Given the description of an element on the screen output the (x, y) to click on. 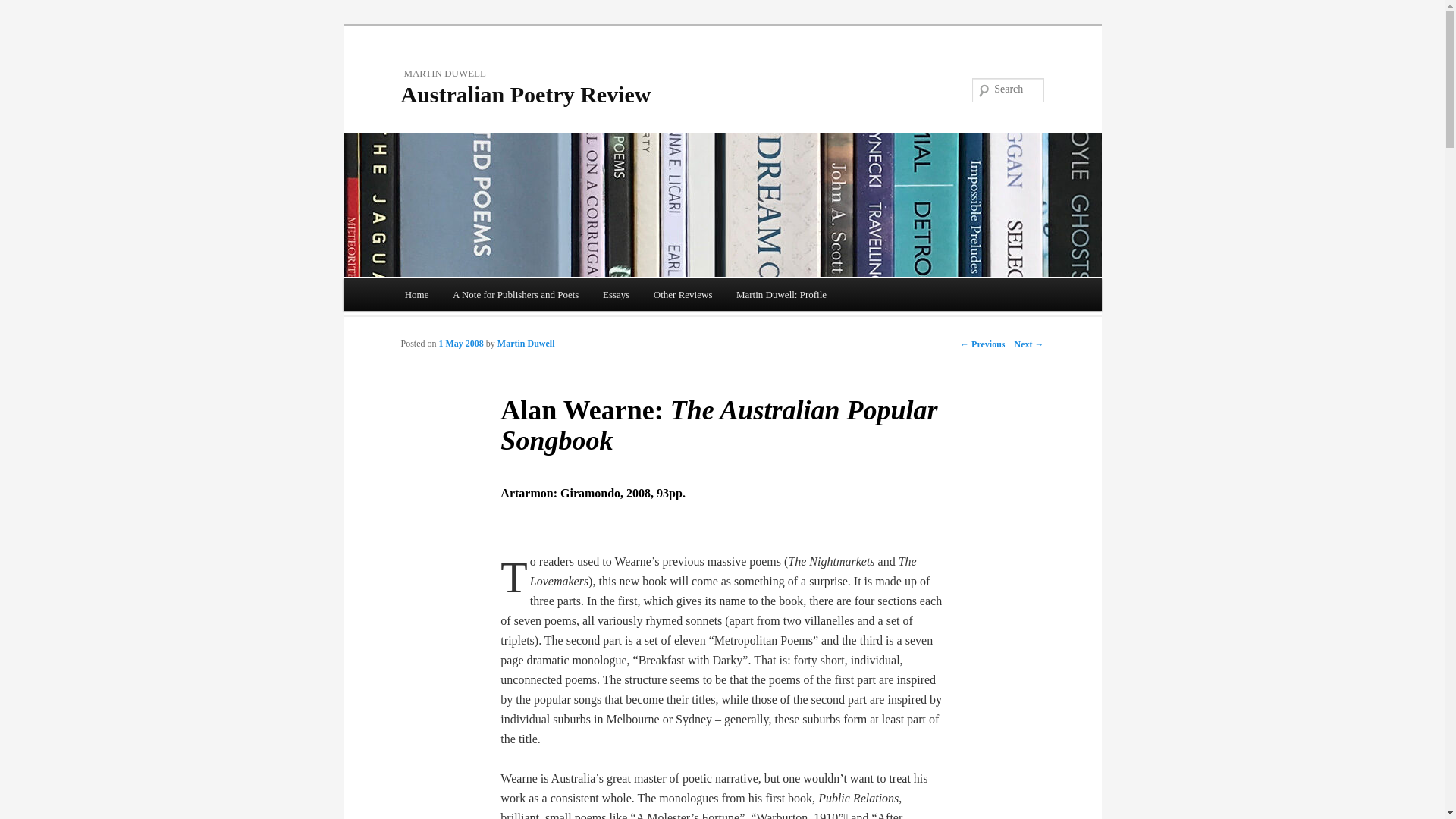
Australian Poetry Review (525, 94)
Skip to content (414, 338)
Home (417, 294)
Skip to content (414, 338)
View all posts by Martin Duwell (525, 343)
A Note for Publishers and Poets (516, 294)
1 May 2008 (461, 343)
Martin Duwell (525, 343)
A list of all reviews, newest listed first. (417, 294)
Australian Poetry Review (525, 94)
Essays (616, 294)
Search (22, 9)
Martin Duwell: Profile (780, 294)
Other Reviews (682, 294)
